Given the description of an element on the screen output the (x, y) to click on. 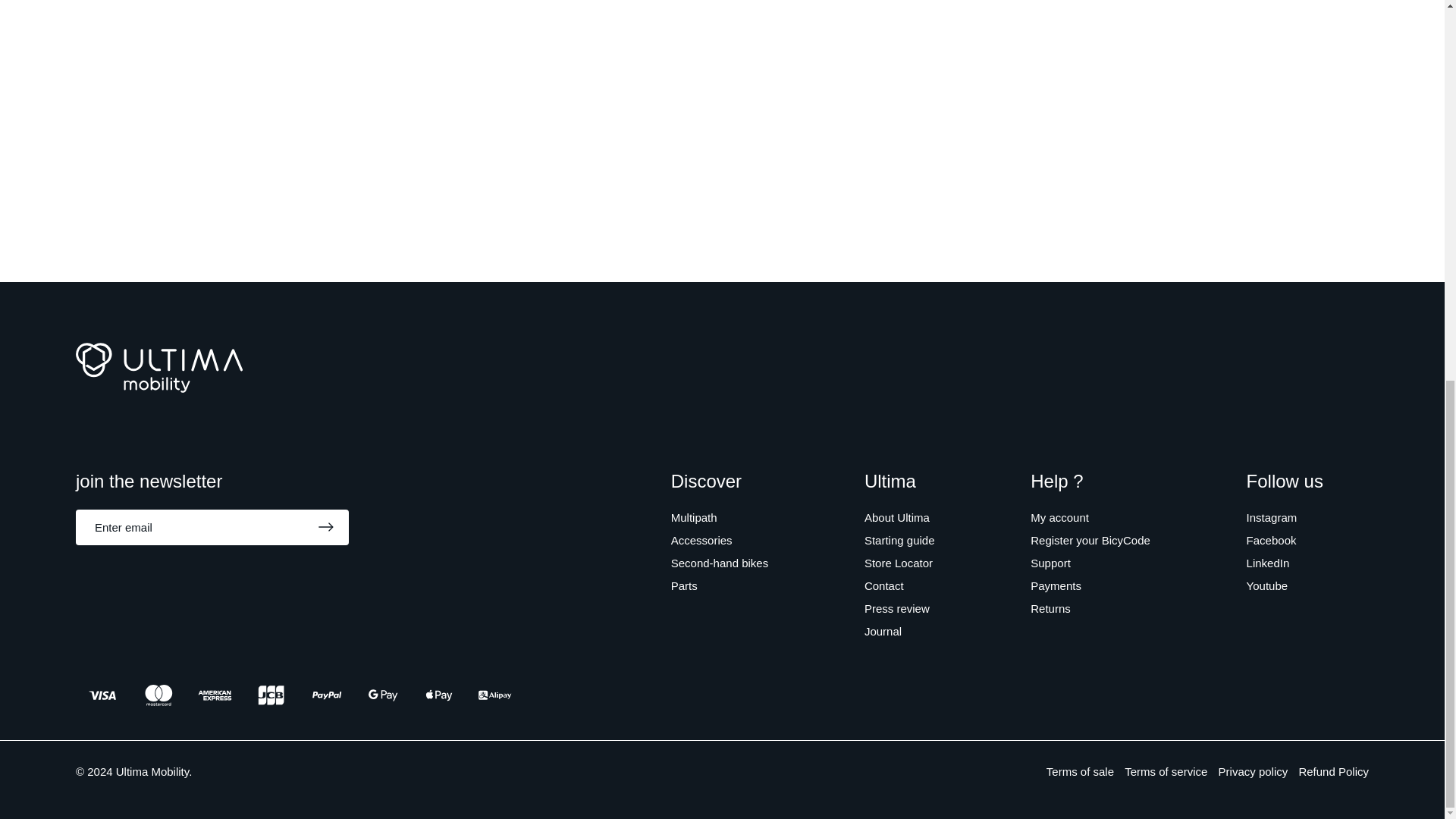
Accessories (701, 540)
Parts (684, 585)
RIGHT ARROW LONG (325, 526)
Multipath (694, 517)
RIGHT ARROW LONG (325, 526)
Second-hand bikes (719, 562)
About Ultima (897, 517)
